Given the description of an element on the screen output the (x, y) to click on. 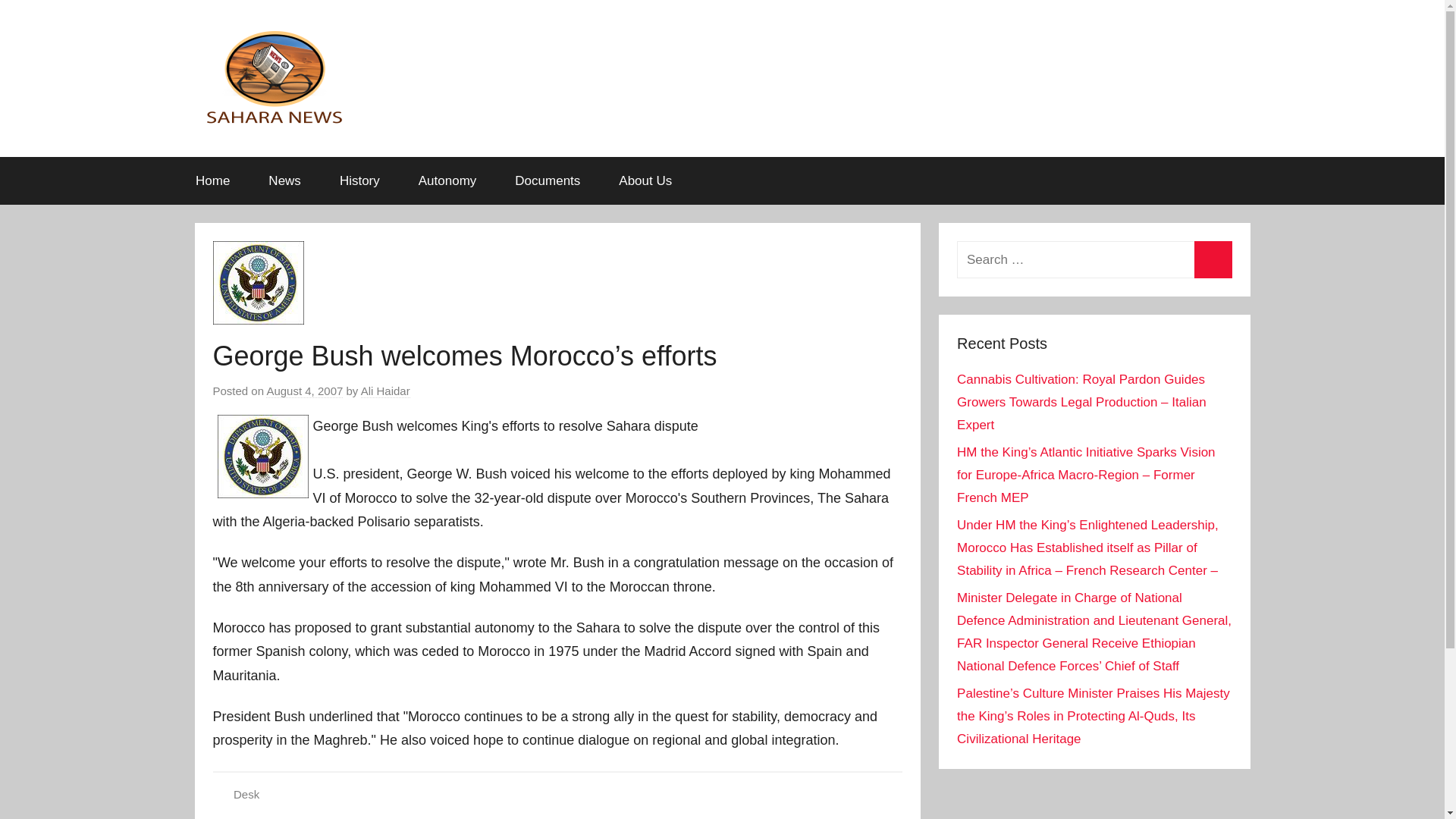
Ali Haidar (385, 391)
August 4, 2007 (304, 391)
About Us (645, 180)
News (284, 180)
Autonomy (447, 180)
Desk (245, 793)
Home (212, 180)
History (359, 180)
Search (1212, 259)
Documents (547, 180)
